Given the description of an element on the screen output the (x, y) to click on. 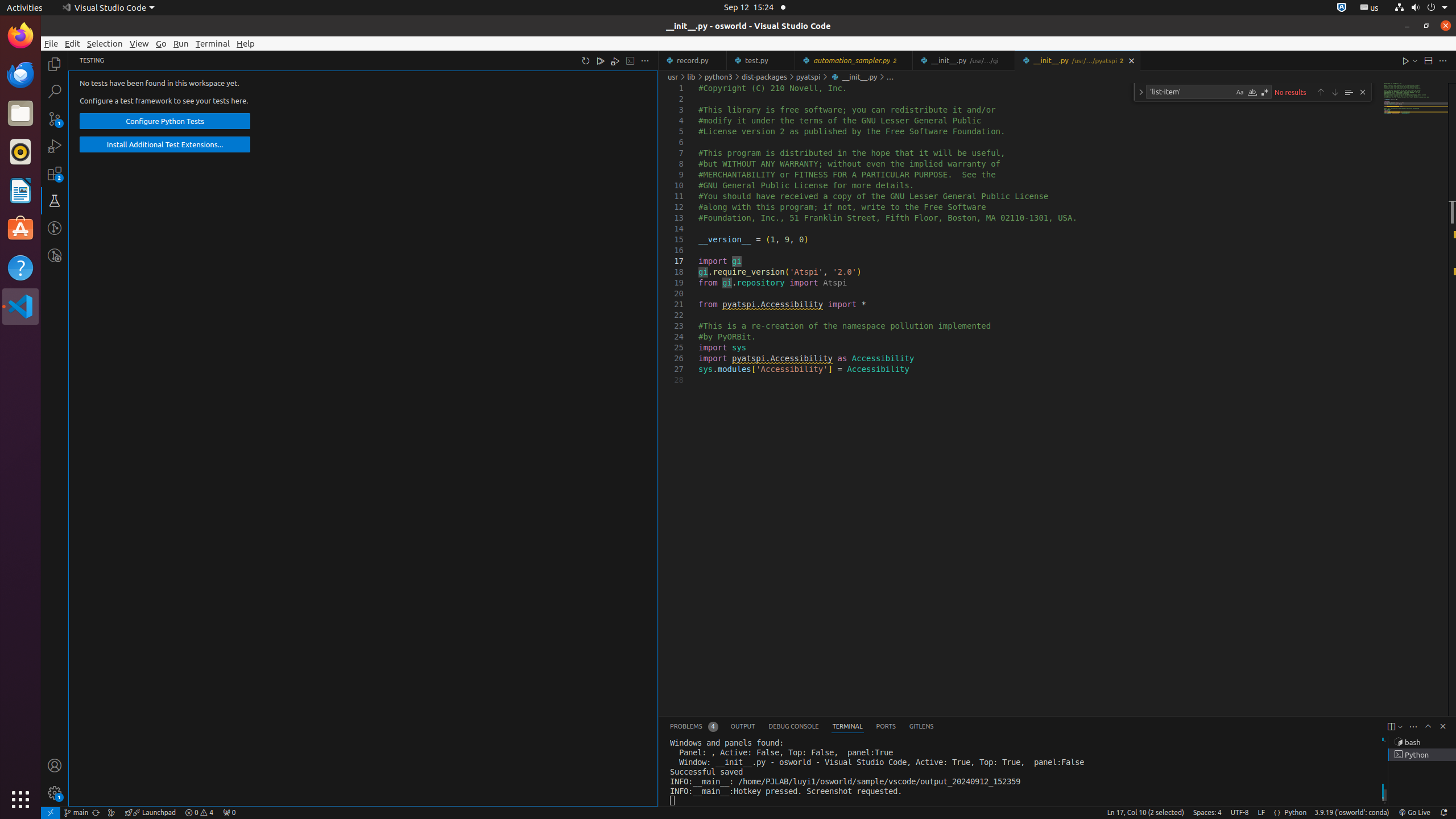
Terminal (Ctrl+`) Element type: page-tab (847, 726)
Debug Tests Element type: push-button (615, 60)
Toggle Replace Element type: push-button (1140, 92)
